Given the description of an element on the screen output the (x, y) to click on. 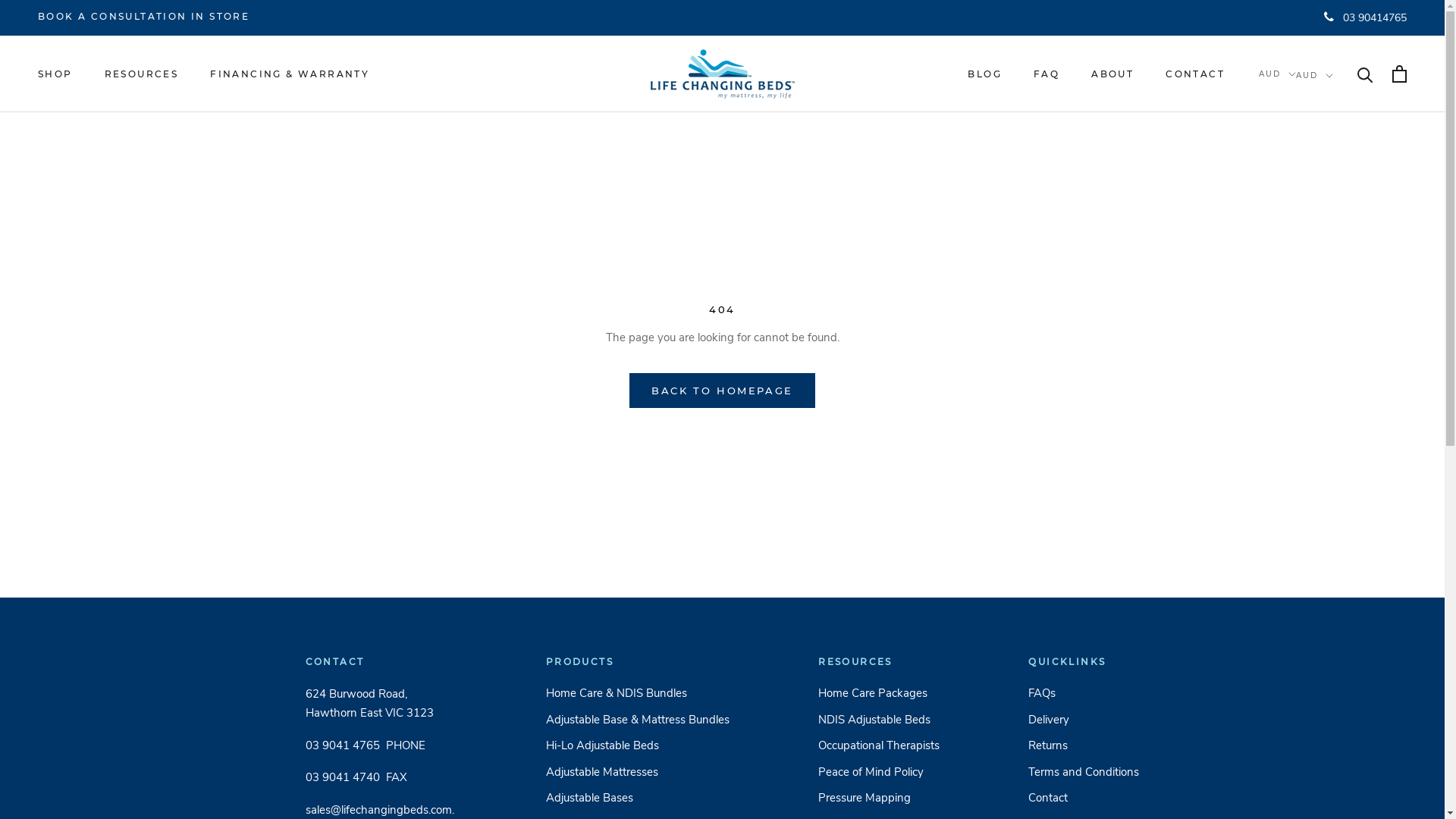
Contact Element type: text (1083, 797)
CONTACT
CONTACT Element type: text (1194, 73)
Returns Element type: text (1083, 745)
NDIS Adjustable Beds Element type: text (878, 719)
Pressure Mapping Element type: text (878, 797)
FINANCING & WARRANTY Element type: text (289, 73)
BOOK A CONSULTATION IN STORE Element type: text (143, 15)
SHOP
SHOP Element type: text (54, 73)
Home Care & NDIS Bundles Element type: text (637, 693)
Adjustable Bases Element type: text (637, 797)
Adjustable Base & Mattress Bundles Element type: text (637, 719)
BACK TO HOMEPAGE Element type: text (722, 390)
RESOURCES Element type: text (141, 73)
FAQs Element type: text (1083, 693)
ABOUT
ABOUT Element type: text (1112, 73)
624 Burwood Road, Element type: text (355, 693)
Terms and Conditions Element type: text (1083, 772)
03 9041 4765 Element type: text (341, 745)
Hawthorn East VIC 3123 Element type: text (368, 712)
Peace of Mind Policy Element type: text (878, 772)
BLOG
BLOG Element type: text (984, 73)
03 90414765 Element type: text (1365, 17)
Home Care Packages Element type: text (878, 693)
Occupational Therapists Element type: text (878, 745)
Hi-Lo Adjustable Beds Element type: text (637, 745)
Adjustable Mattresses Element type: text (637, 772)
Delivery Element type: text (1083, 719)
FAQ
FAQ Element type: text (1046, 73)
